Given the description of an element on the screen output the (x, y) to click on. 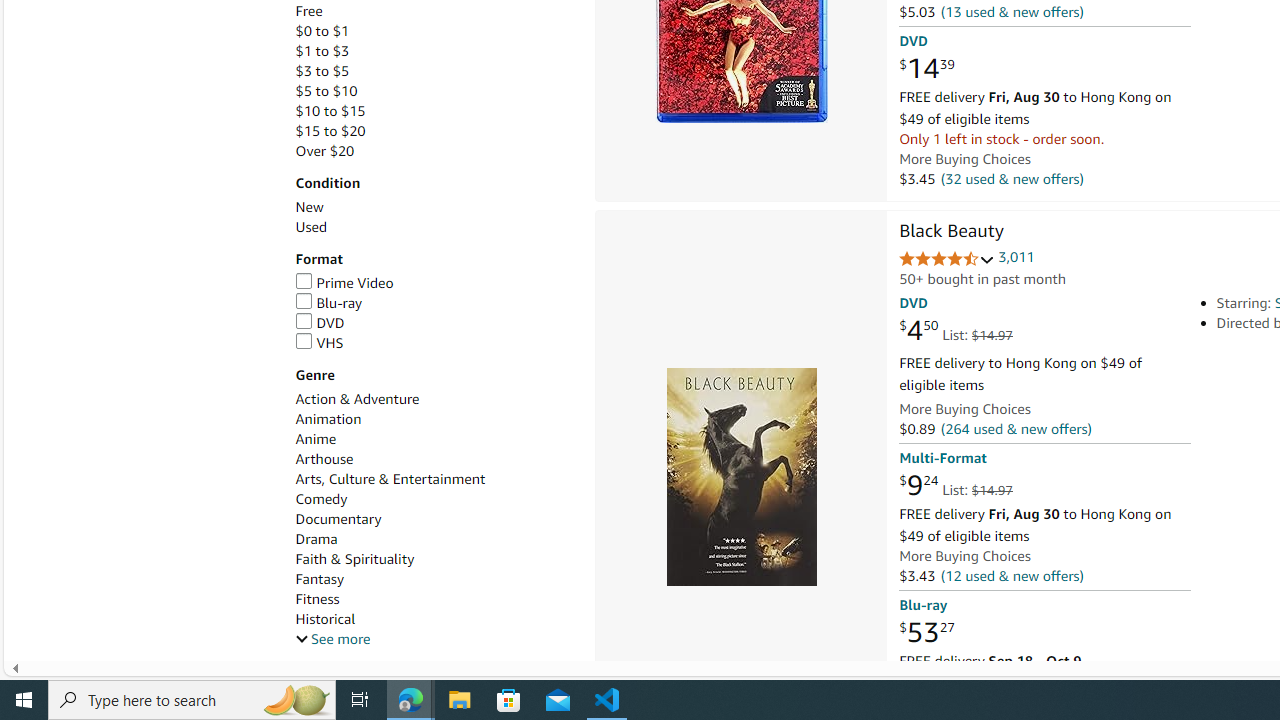
Comedy (321, 499)
(13 used & new offers) (1011, 12)
See more, Genre (332, 639)
(12 used & new offers) (1011, 574)
$10 to $15 (434, 111)
Used (310, 227)
$15 to $20 (434, 131)
$9.24 List: $14.97 (955, 485)
Documentary (337, 519)
$1 to $3 (434, 51)
$3 to $5 (321, 70)
$5 to $10 (434, 91)
$4.50 List: $14.97 (955, 331)
Fantasy (434, 579)
Animation (328, 419)
